Given the description of an element on the screen output the (x, y) to click on. 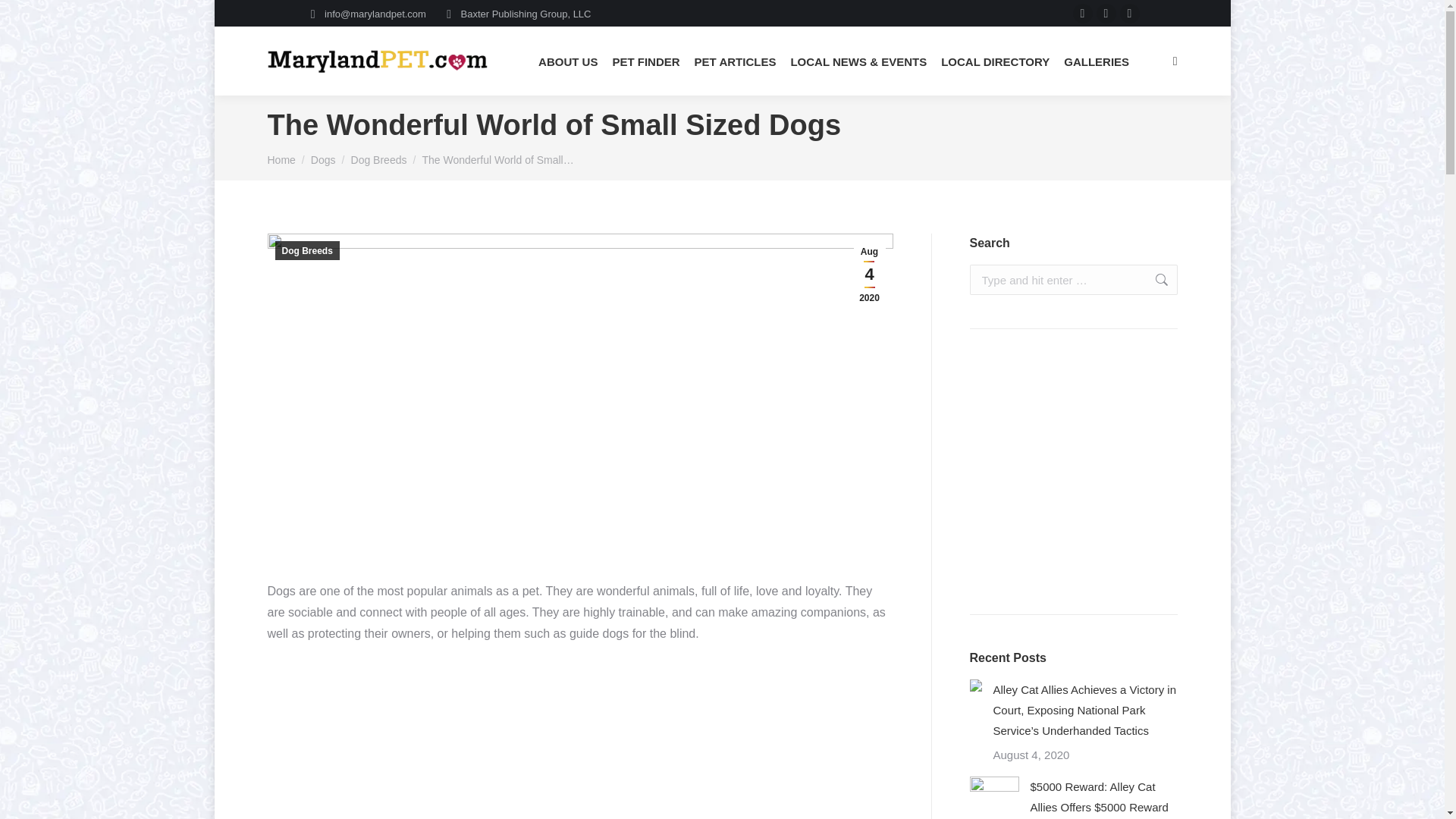
PET FINDER (645, 61)
Facebook page opens in new window (1083, 13)
Facebook page opens in new window (1083, 13)
Go! (1153, 279)
Pinterest page opens in new window (1129, 13)
X page opens in new window (1106, 13)
Home (280, 159)
X page opens in new window (1106, 13)
ABOUT US (567, 61)
Pinterest page opens in new window (1129, 13)
